Given the description of an element on the screen output the (x, y) to click on. 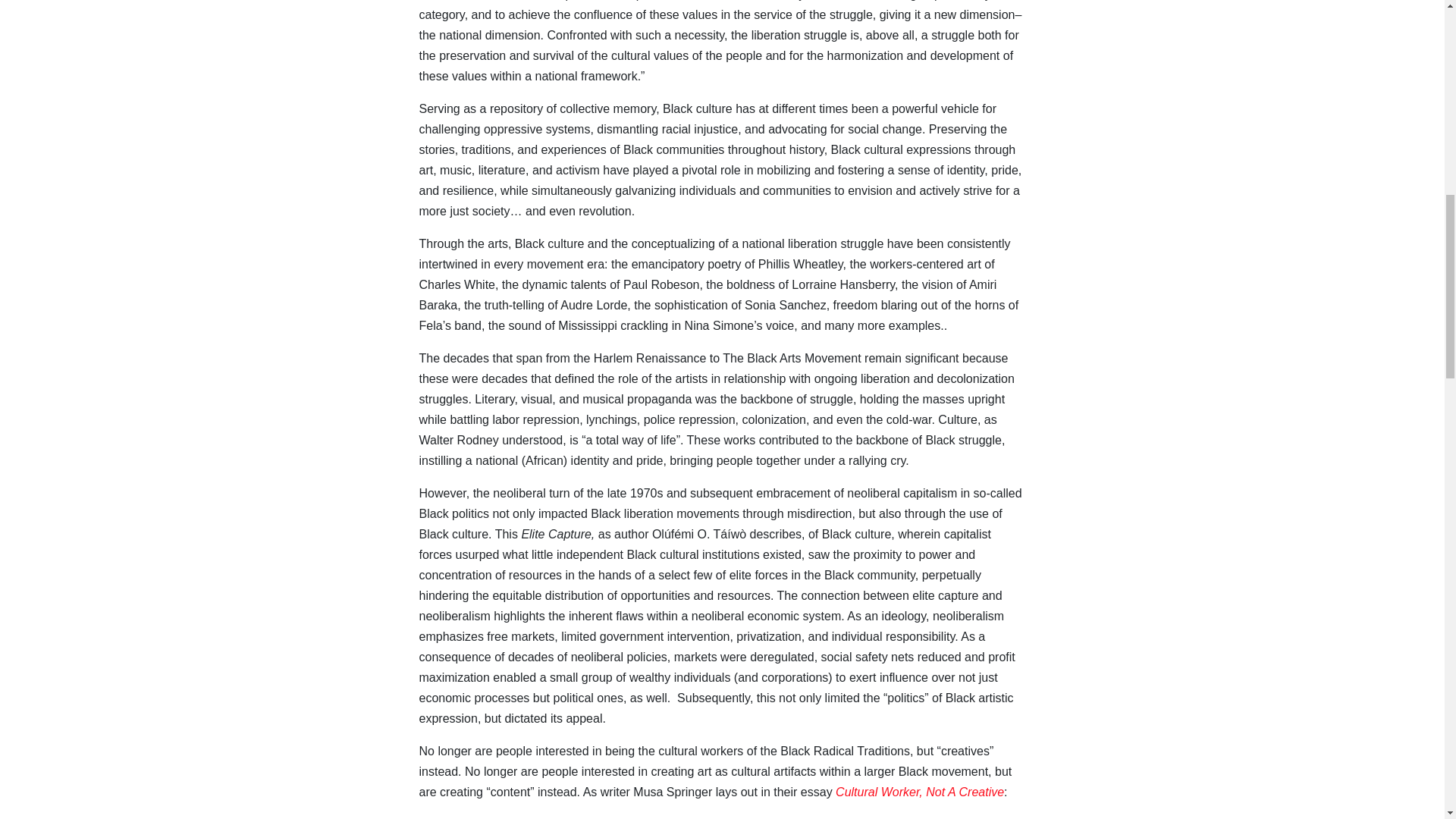
Cultural Worker, Not A Creative (919, 791)
